Given the description of an element on the screen output the (x, y) to click on. 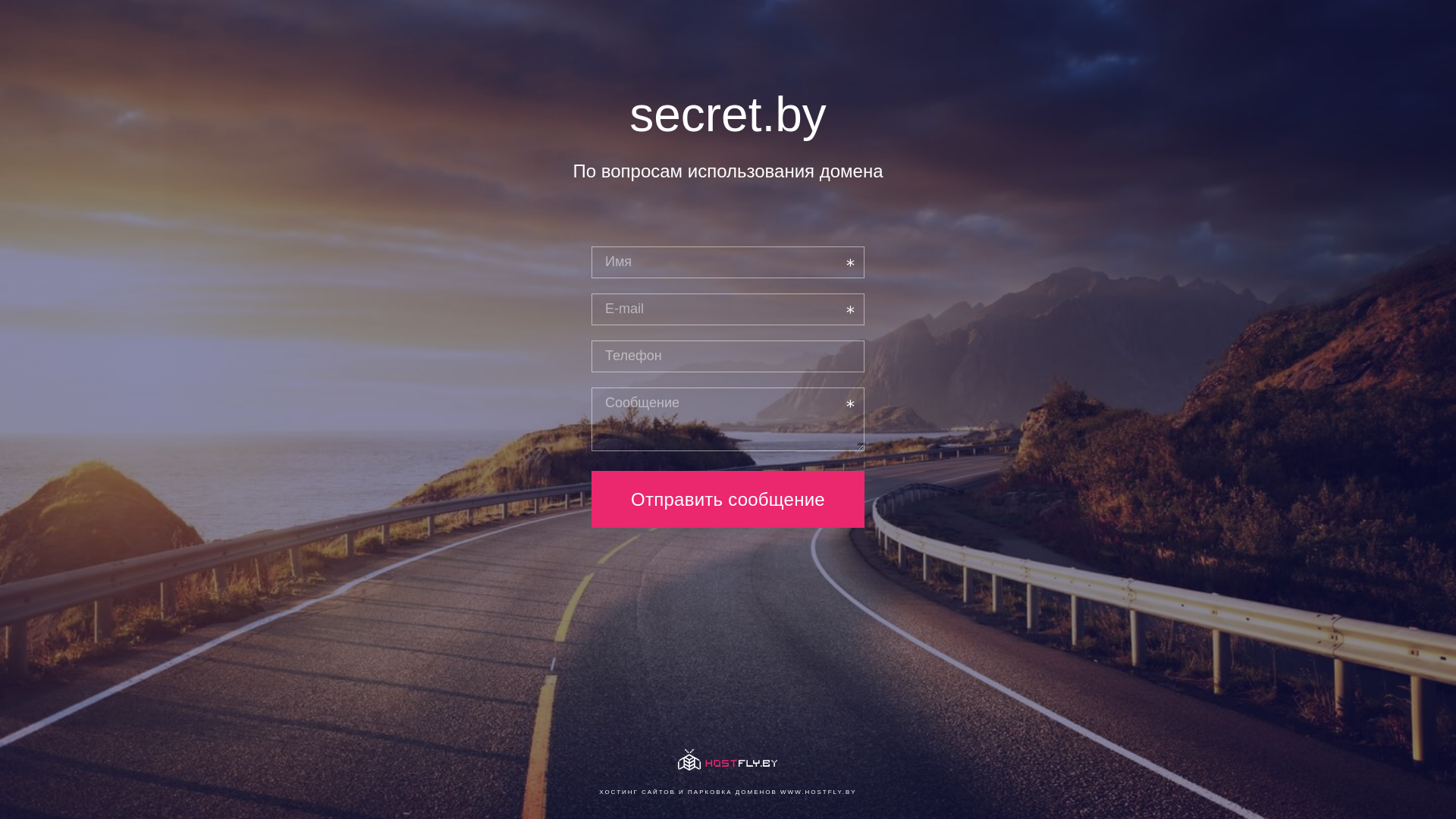
WWW.HOSTFLY.BY Element type: text (818, 791)
